Given the description of an element on the screen output the (x, y) to click on. 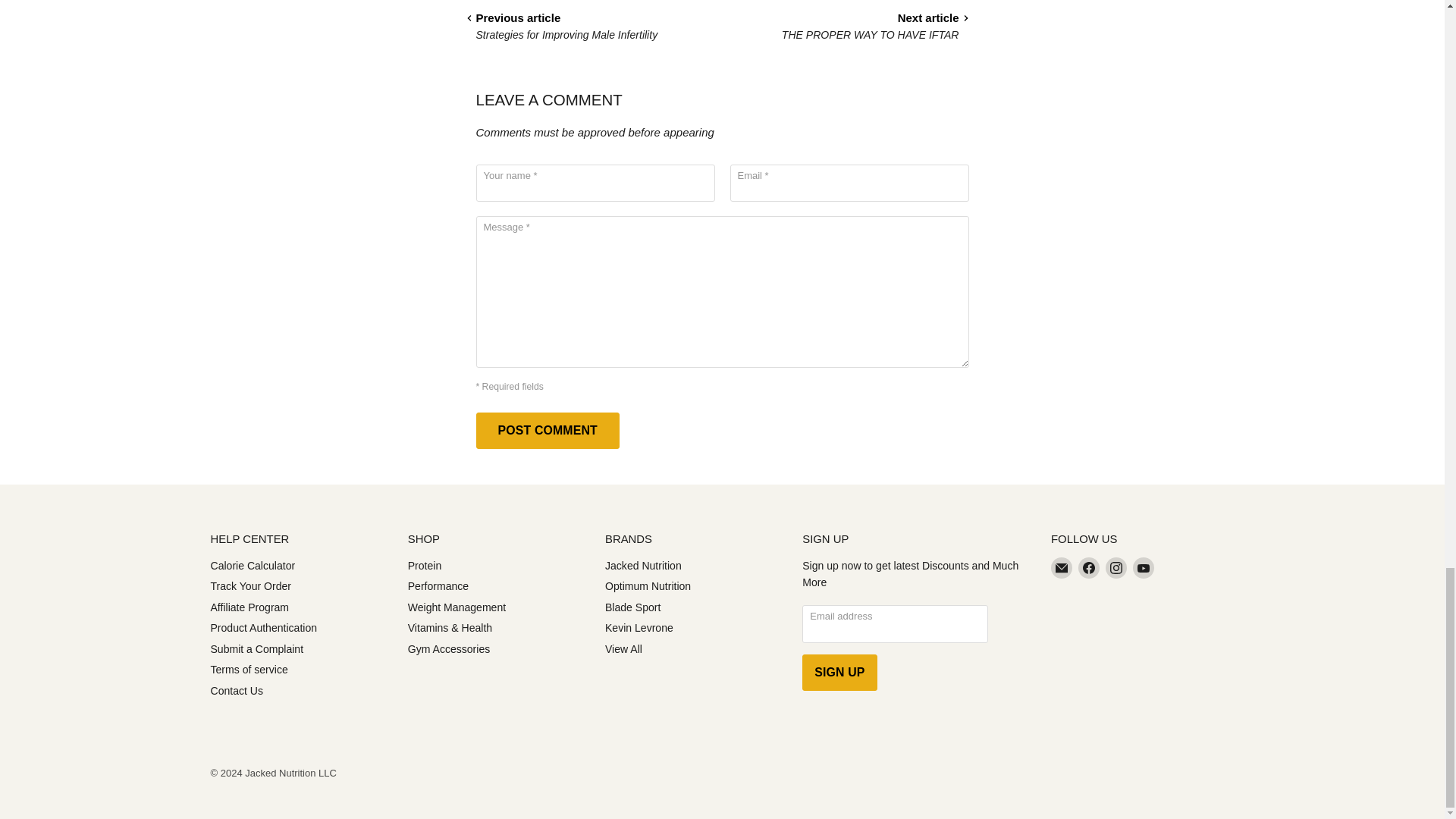
Instagram (1115, 567)
YouTube (1143, 567)
Facebook (1088, 567)
Email (1061, 567)
